Given the description of an element on the screen output the (x, y) to click on. 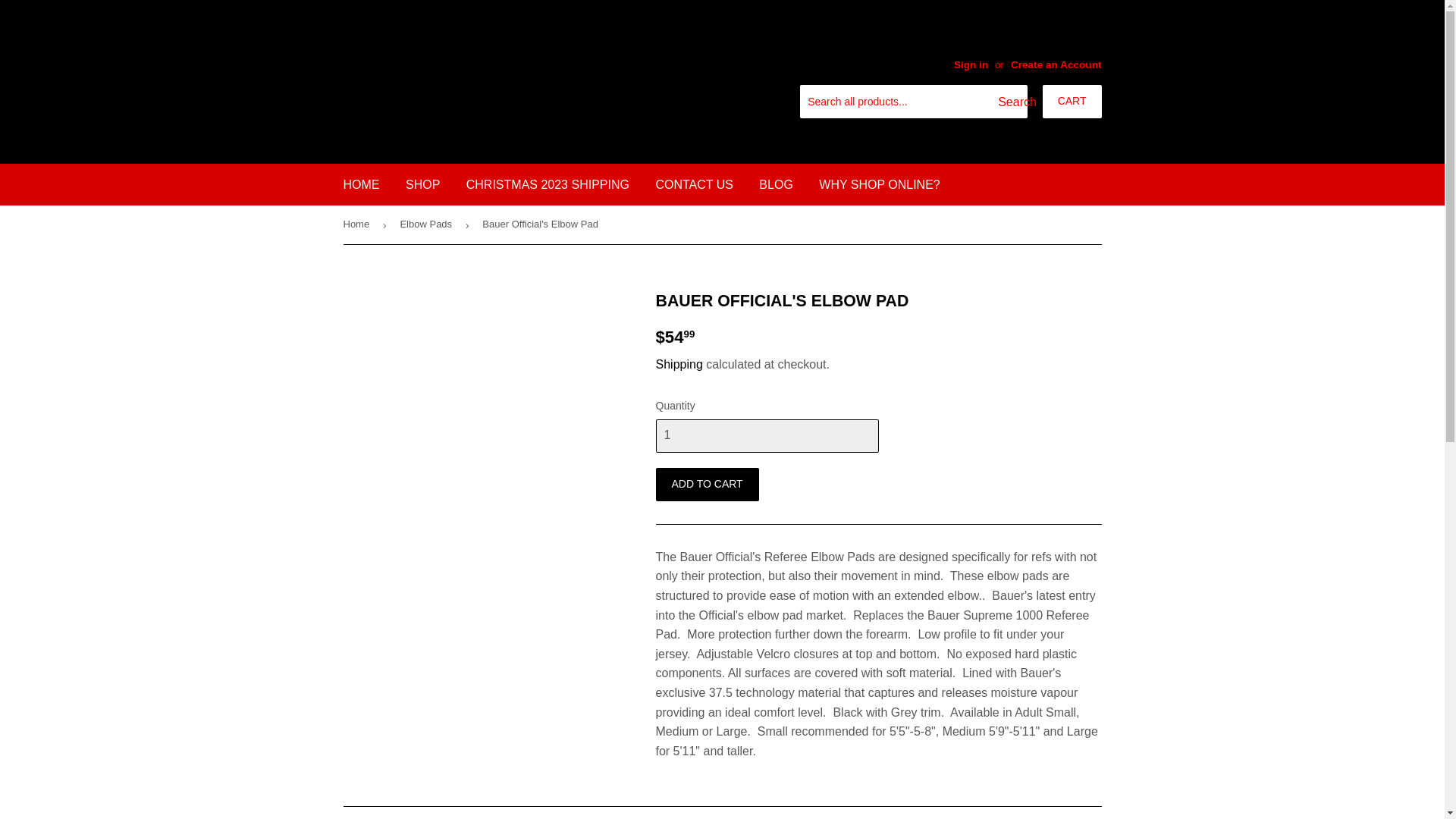
Create an Account (1056, 64)
CART (1072, 101)
Sign in (970, 64)
1 (766, 435)
Search (1009, 101)
